Given the description of an element on the screen output the (x, y) to click on. 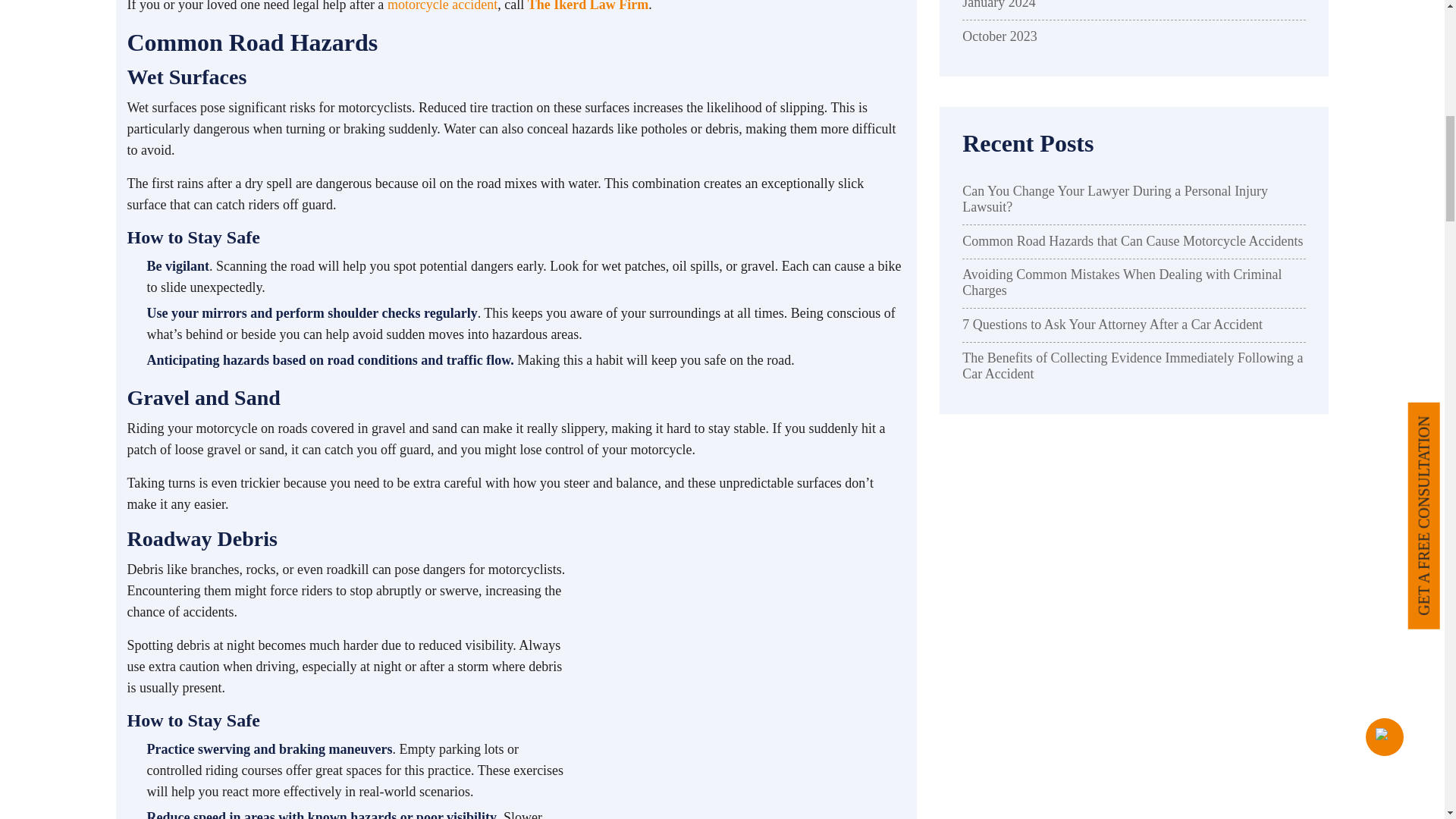
motorcycle accident (442, 6)
The Ikerd Law Firm (588, 6)
